Given the description of an element on the screen output the (x, y) to click on. 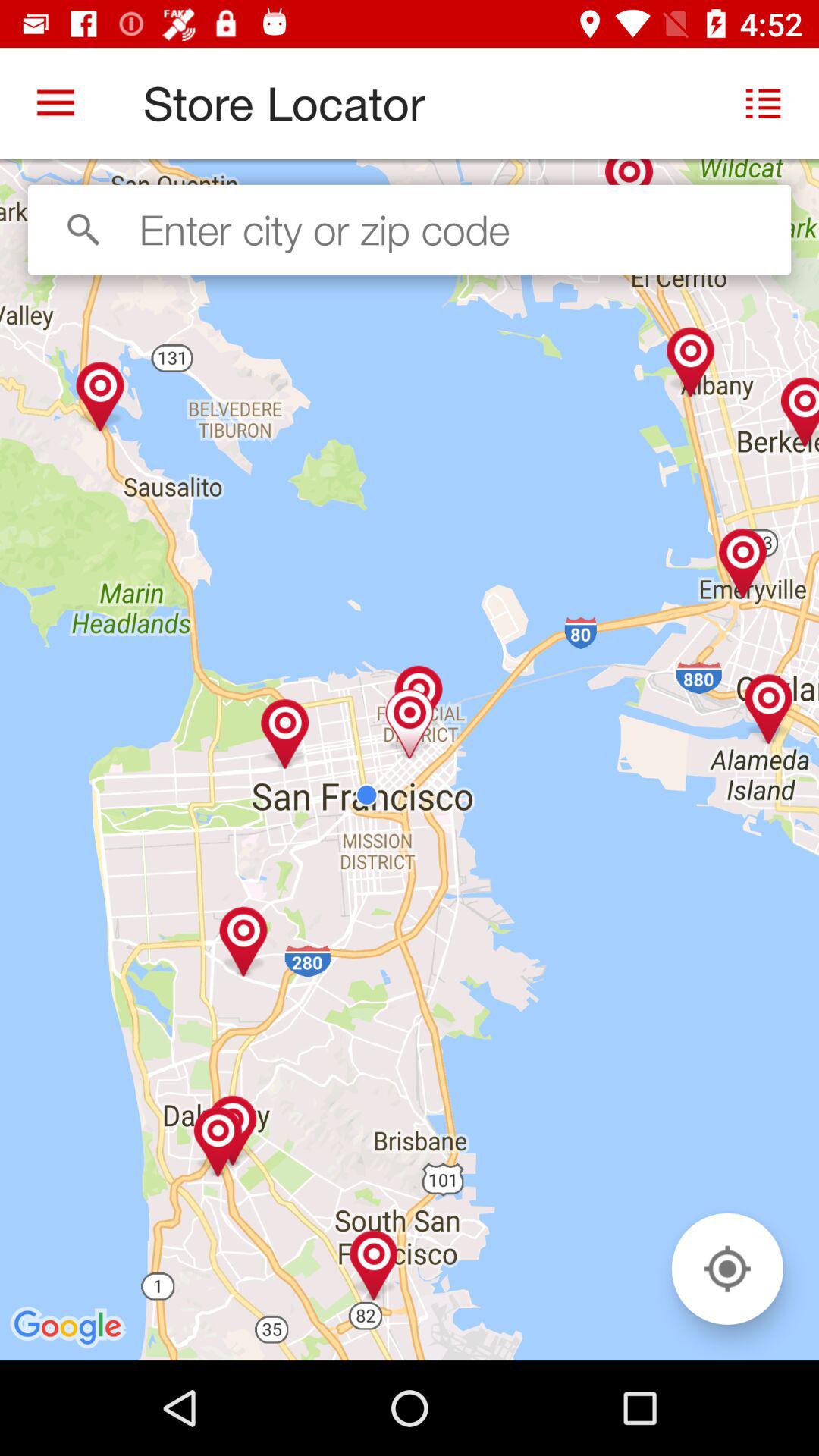
turn on icon at the bottom right corner (727, 1268)
